Given the description of an element on the screen output the (x, y) to click on. 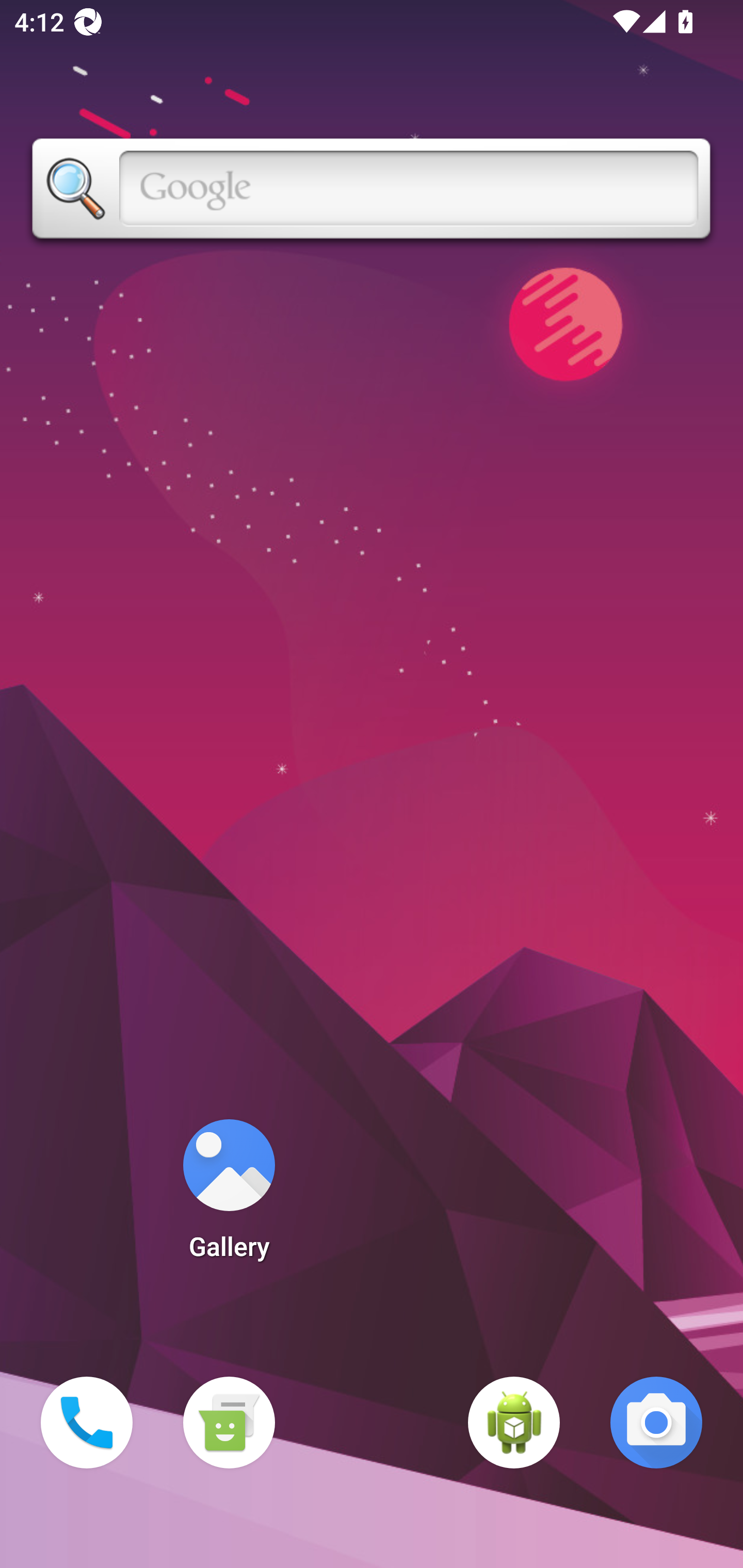
Gallery (228, 1195)
Phone (86, 1422)
Messaging (228, 1422)
WebView Browser Tester (513, 1422)
Camera (656, 1422)
